Given the description of an element on the screen output the (x, y) to click on. 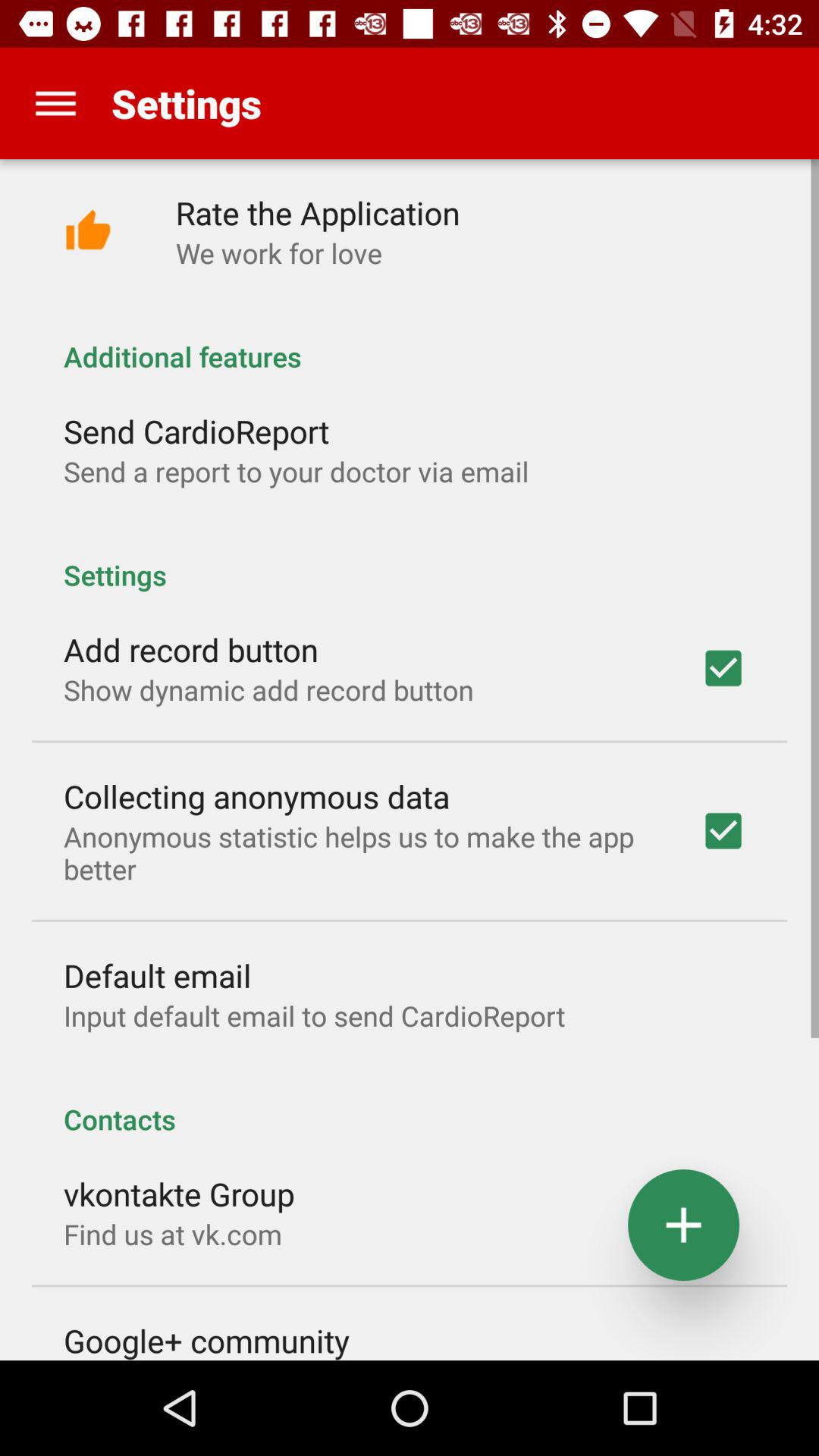
flip until we work for (278, 252)
